Given the description of an element on the screen output the (x, y) to click on. 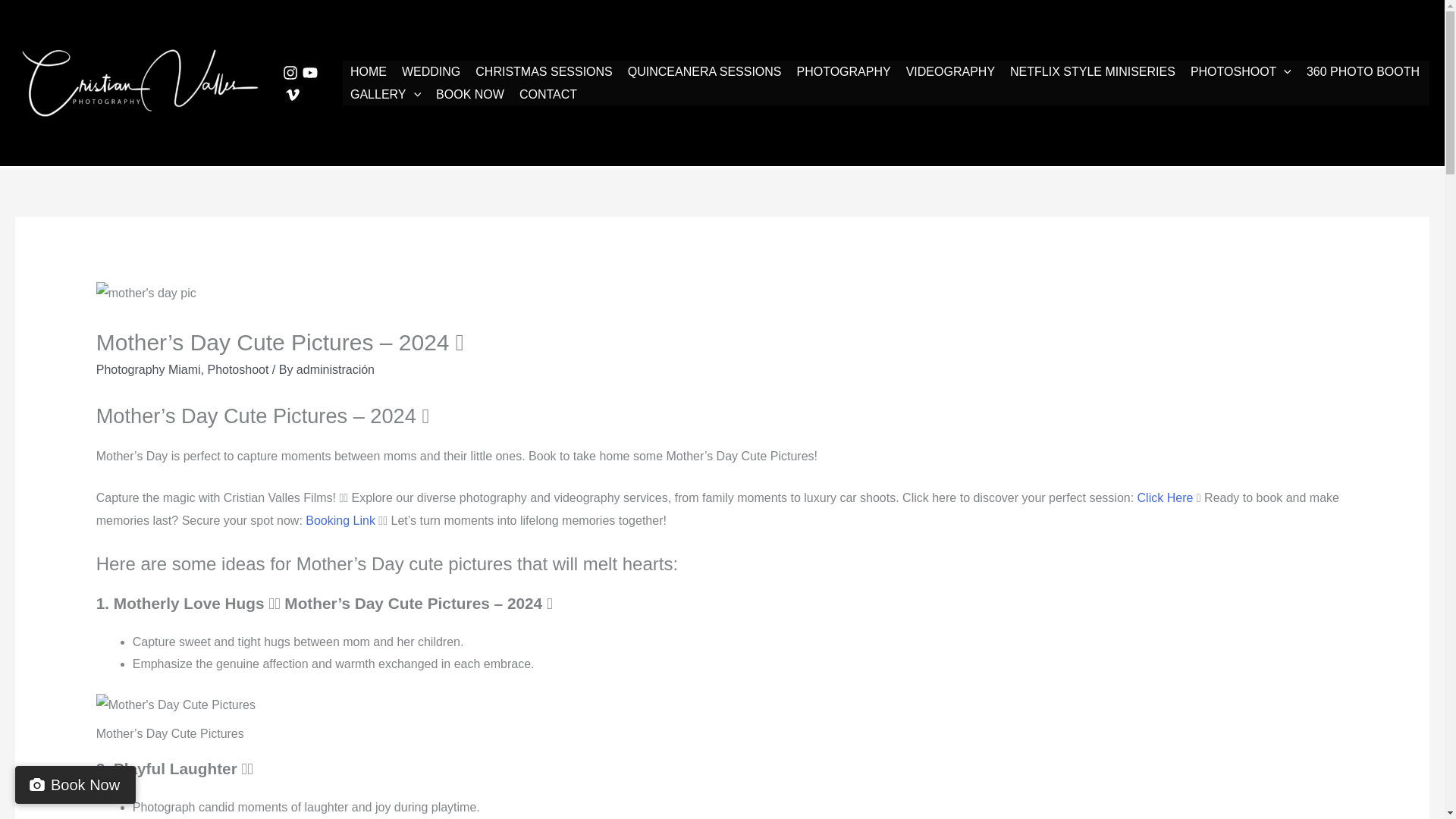
360 PHOTO BOOTH (1362, 71)
BOOK NOW (470, 94)
CONTACT (548, 94)
VIDEOGRAPHY (950, 71)
PHOTOSHOOT (1240, 71)
CHRISTMAS SESSIONS (543, 71)
PHOTOGRAPHY (843, 71)
QUINCEANERA SESSIONS (704, 71)
WEDDING (430, 71)
NETFLIX STYLE MINISERIES (1092, 71)
HOME (368, 71)
GALLERY (385, 94)
